Given the description of an element on the screen output the (x, y) to click on. 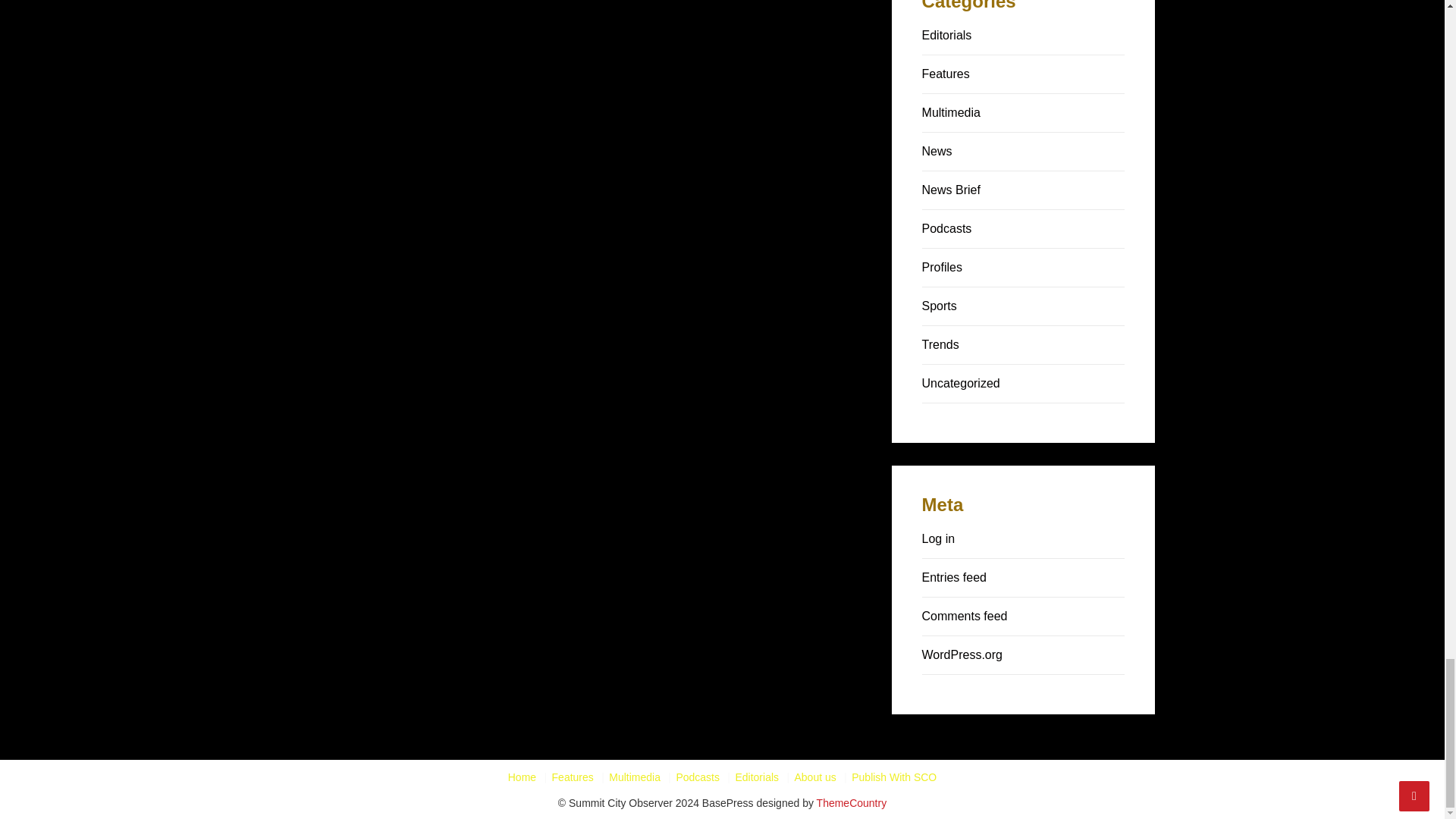
Base - The best free blog theme for WordPress (851, 802)
